Given the description of an element on the screen output the (x, y) to click on. 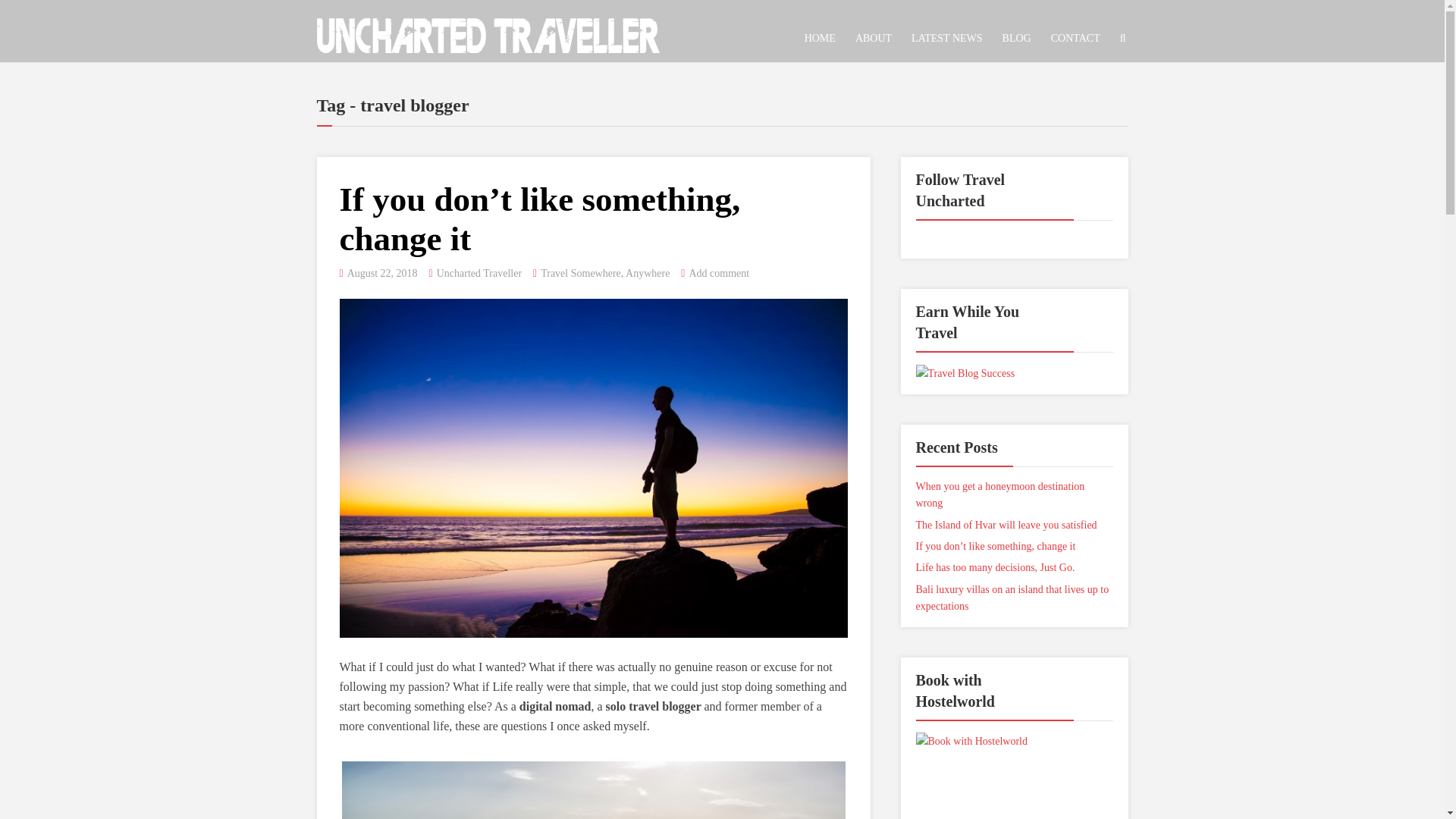
Uncharted Traveller (488, 32)
Travel Somewhere, Anywhere (604, 273)
Travel Blog Success (964, 372)
solo travel blogger (653, 706)
Book with Hostelworld (1014, 786)
The Island of Hvar will leave you satisfied (1006, 524)
When you get a honeymoon destination wrong (999, 494)
digital nomad (555, 706)
Life has too many decisions, Just Go. (995, 567)
